Given the description of an element on the screen output the (x, y) to click on. 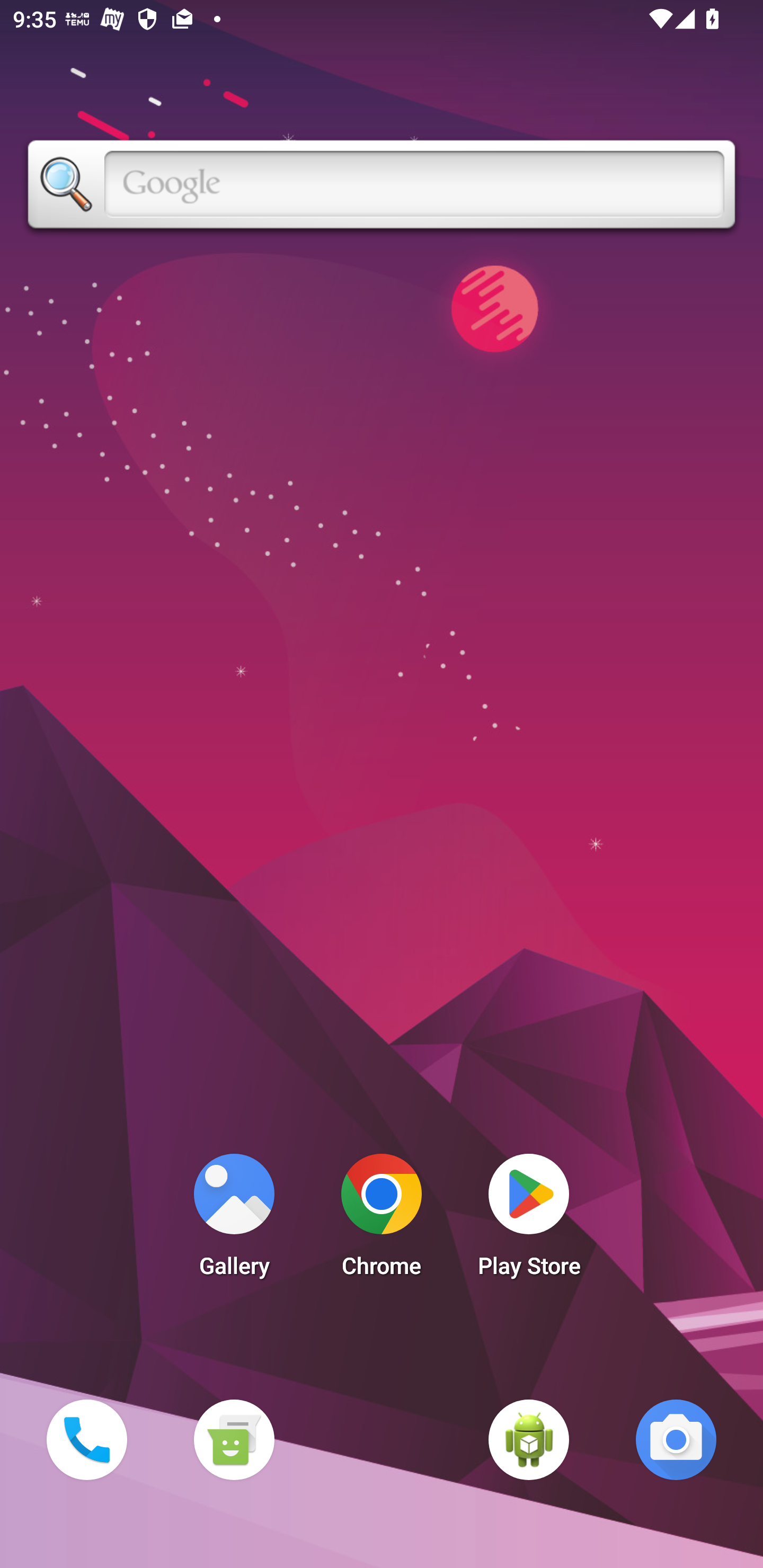
Gallery (233, 1220)
Chrome (381, 1220)
Play Store (528, 1220)
Phone (86, 1439)
Messaging (233, 1439)
WebView Browser Tester (528, 1439)
Camera (676, 1439)
